Given the description of an element on the screen output the (x, y) to click on. 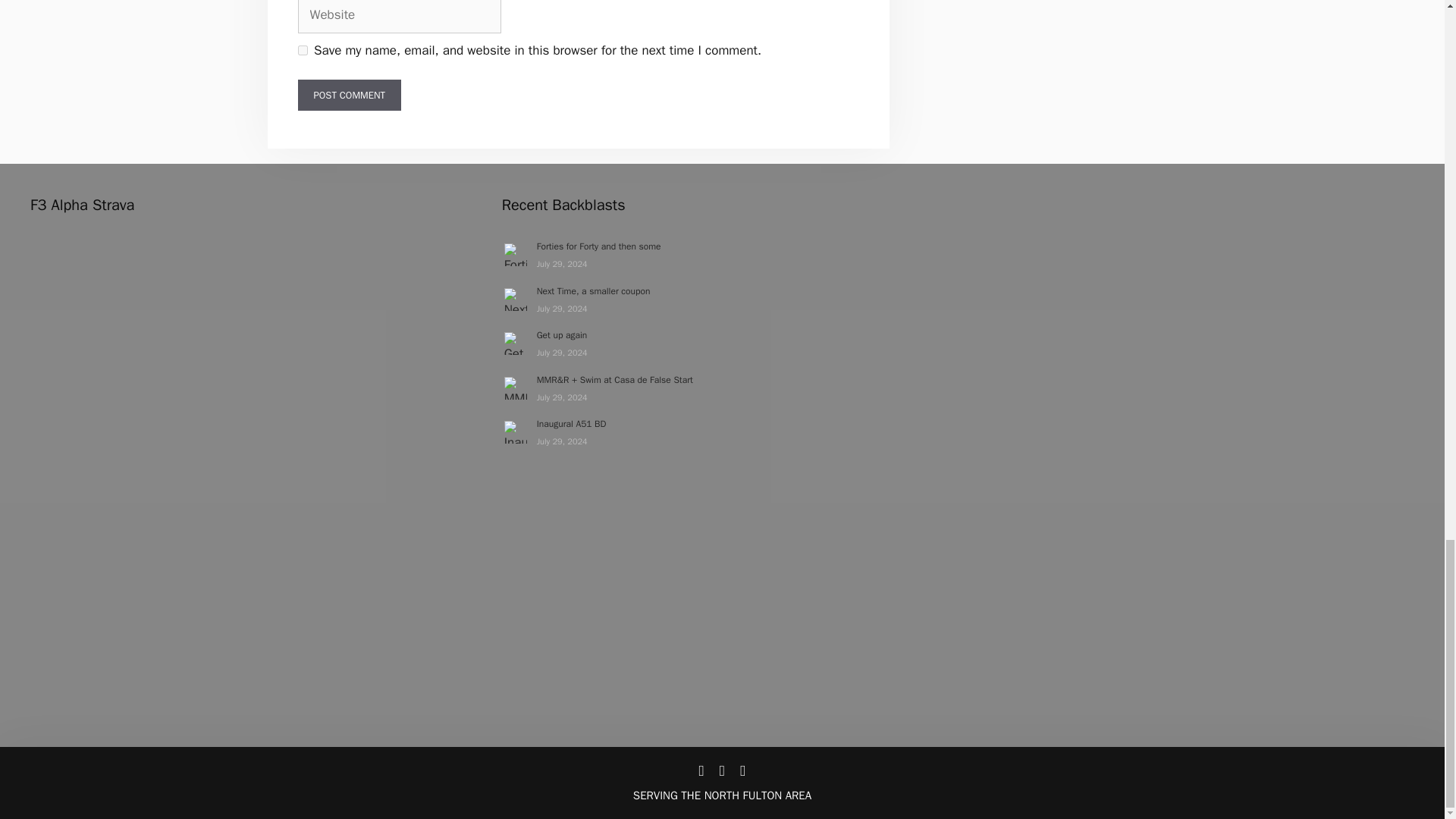
yes (302, 50)
Post Comment (349, 95)
Post Comment (349, 95)
